Given the description of an element on the screen output the (x, y) to click on. 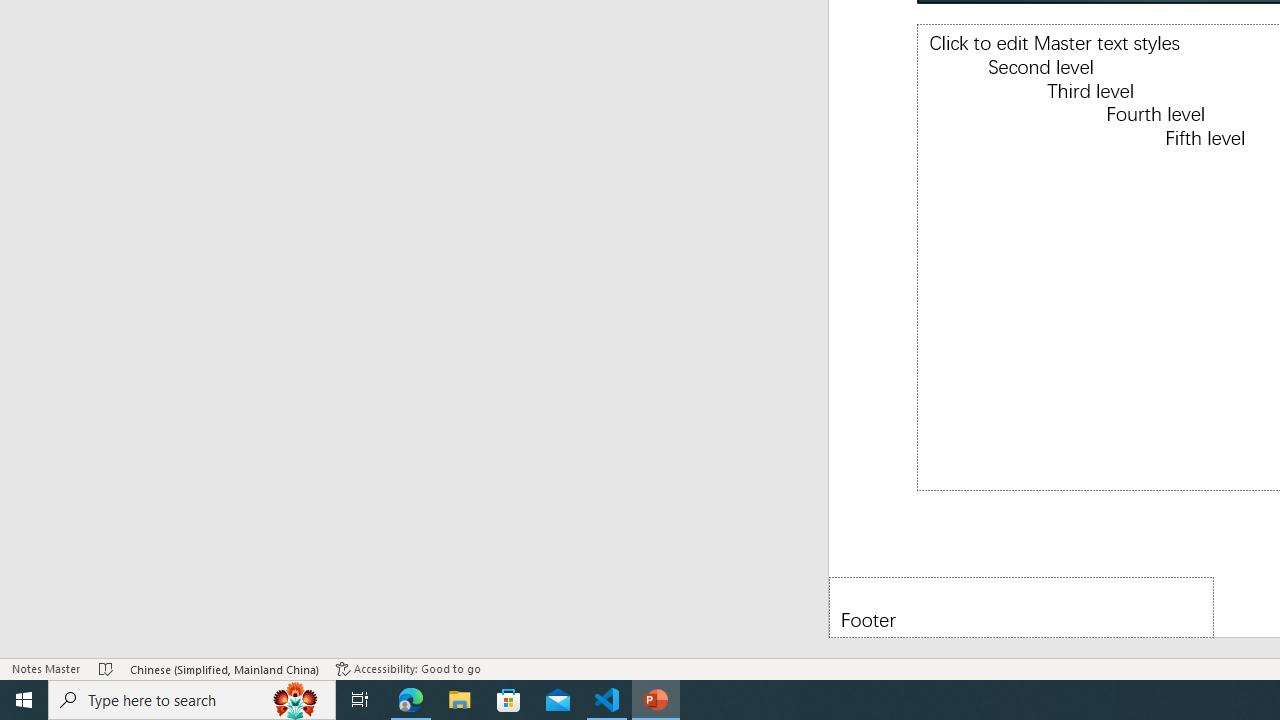
Footer (1021, 606)
